Given the description of an element on the screen output the (x, y) to click on. 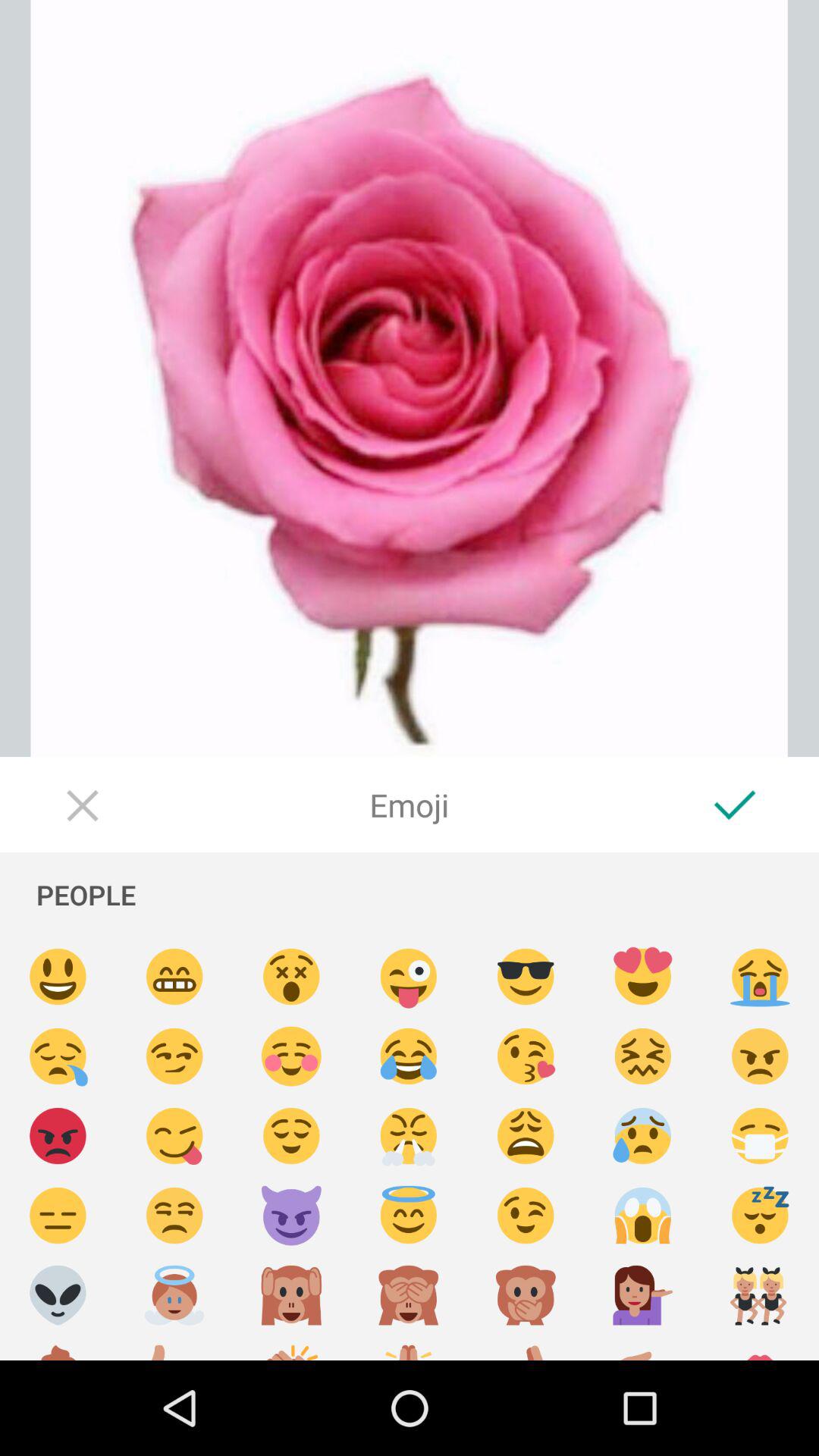
send crying emoji (760, 976)
